Given the description of an element on the screen output the (x, y) to click on. 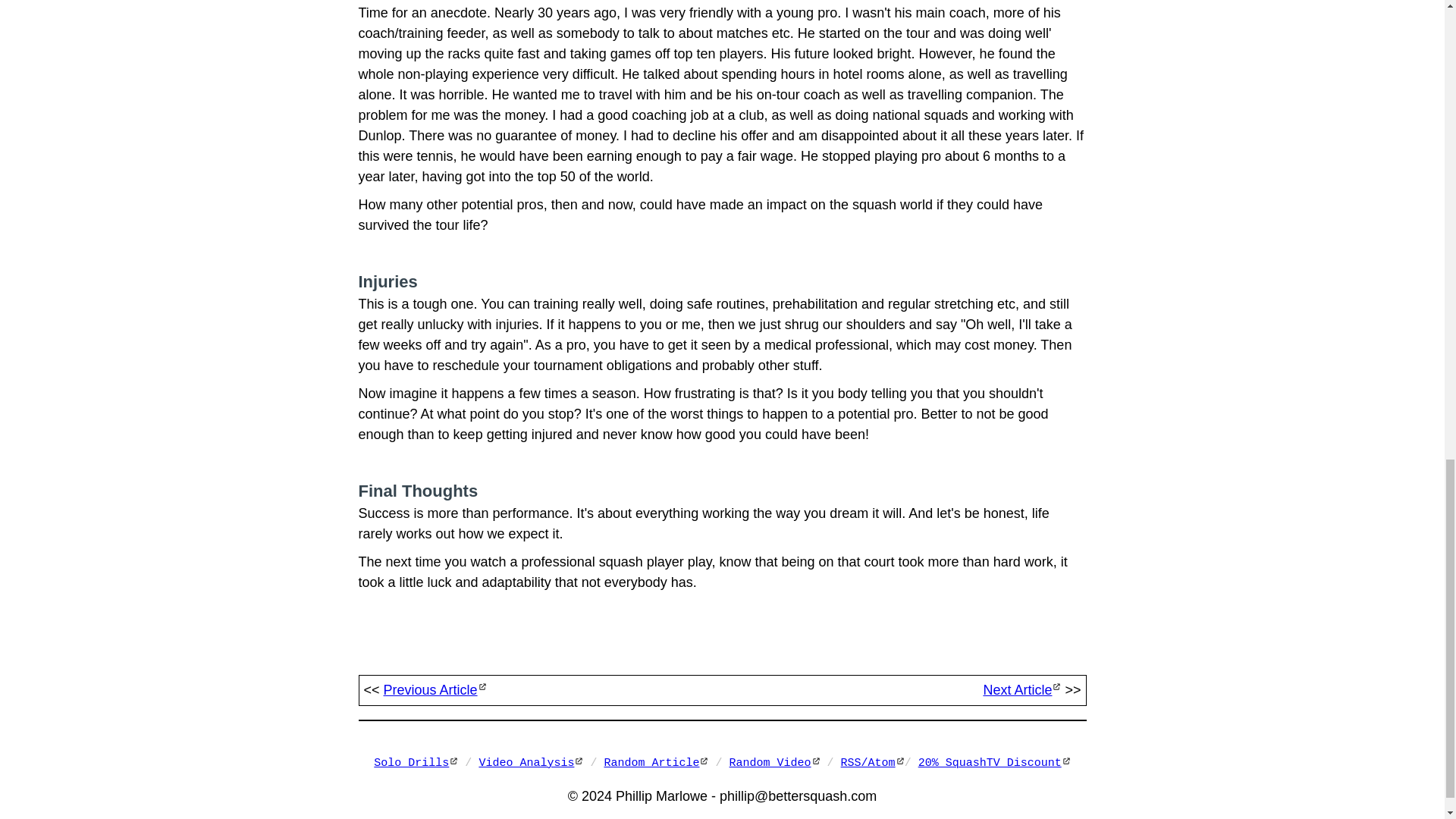
Previous Article (435, 689)
Solo Drills (416, 762)
Video Analysis (531, 762)
Read a random article (655, 762)
Random Article (655, 762)
